Given the description of an element on the screen output the (x, y) to click on. 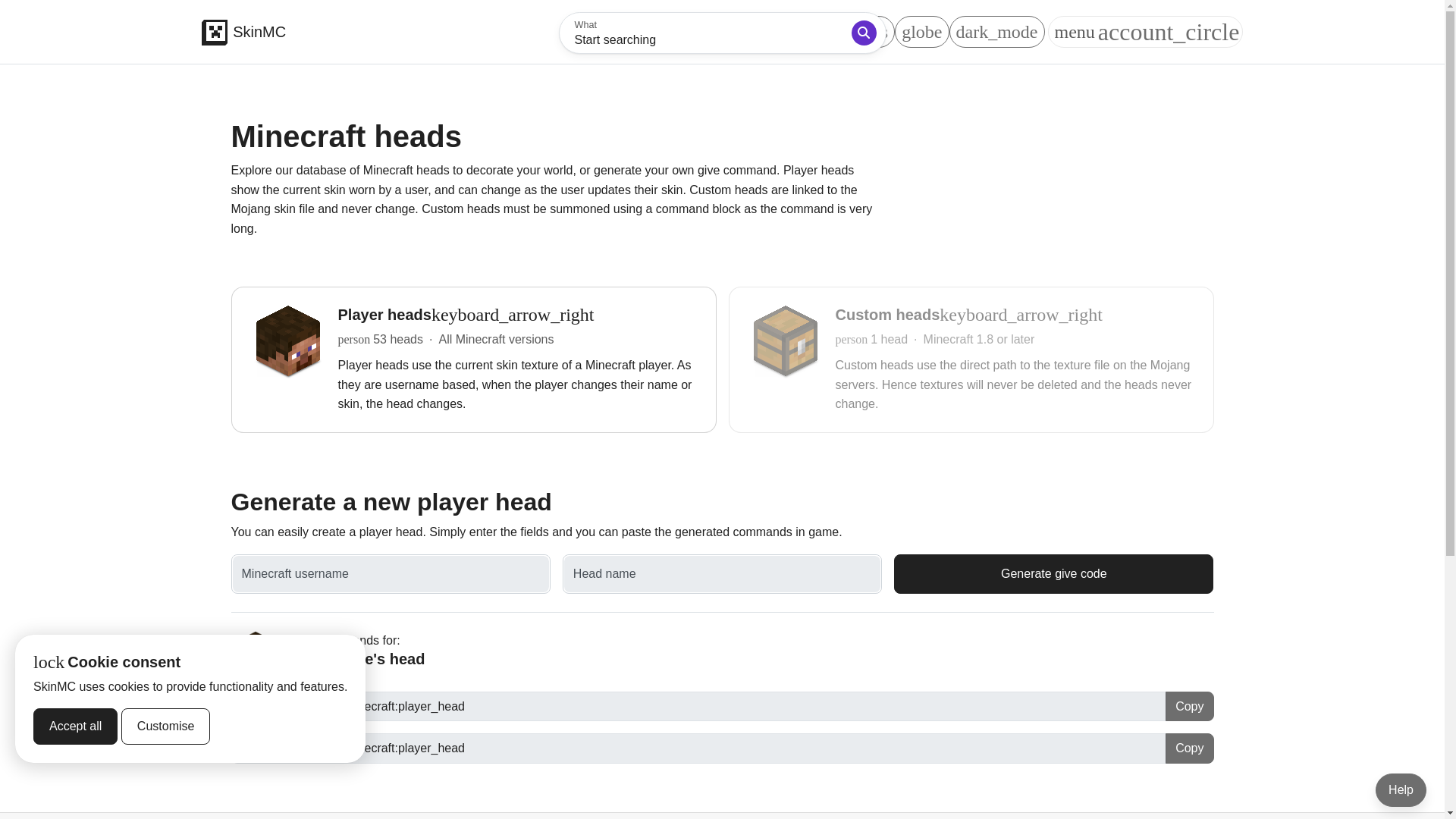
notifications (842, 31)
SkinMC (244, 30)
SkinMC (215, 31)
globe (922, 31)
